Given the description of an element on the screen output the (x, y) to click on. 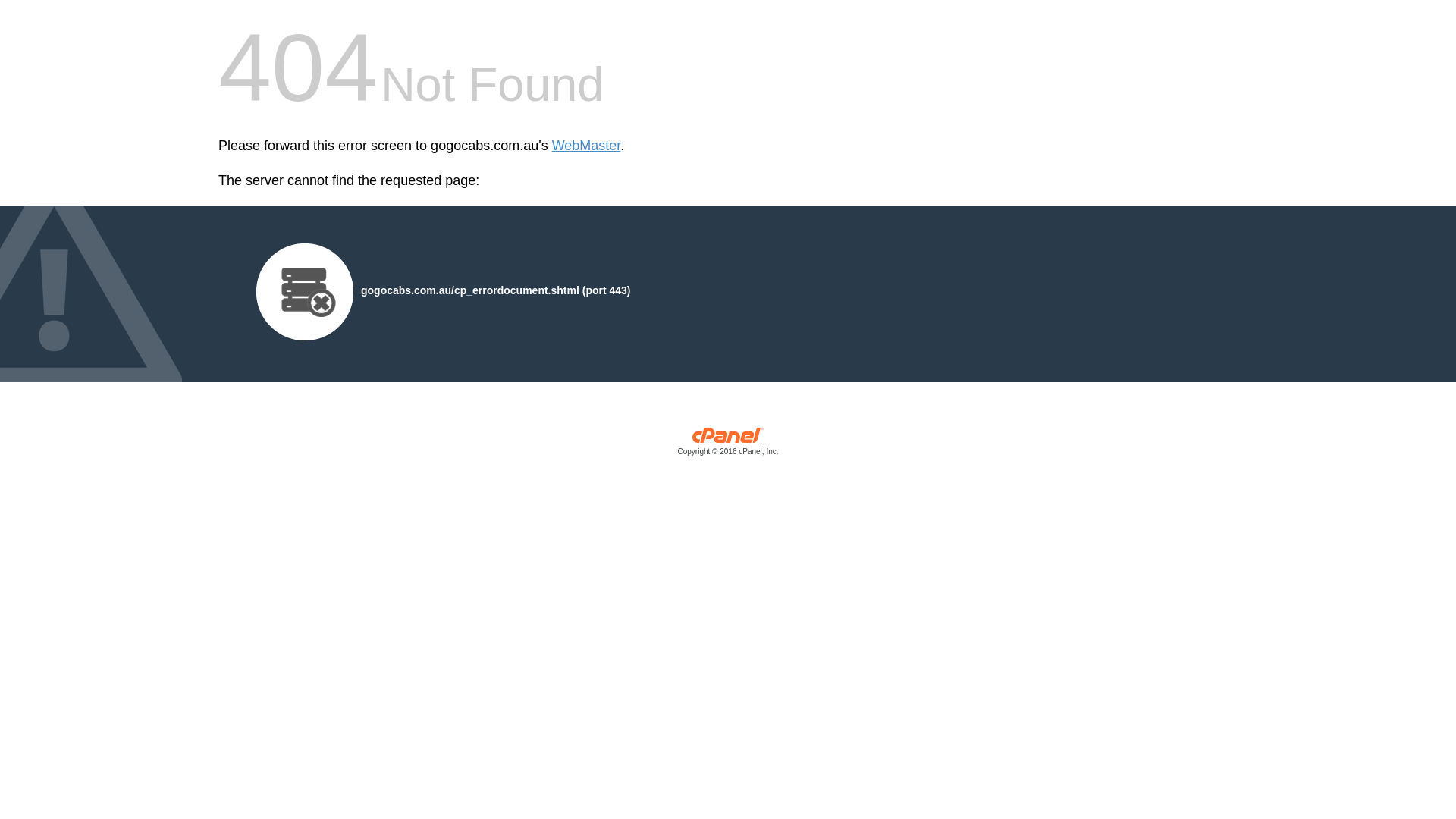
WebMaster Element type: text (586, 145)
